Given the description of an element on the screen output the (x, y) to click on. 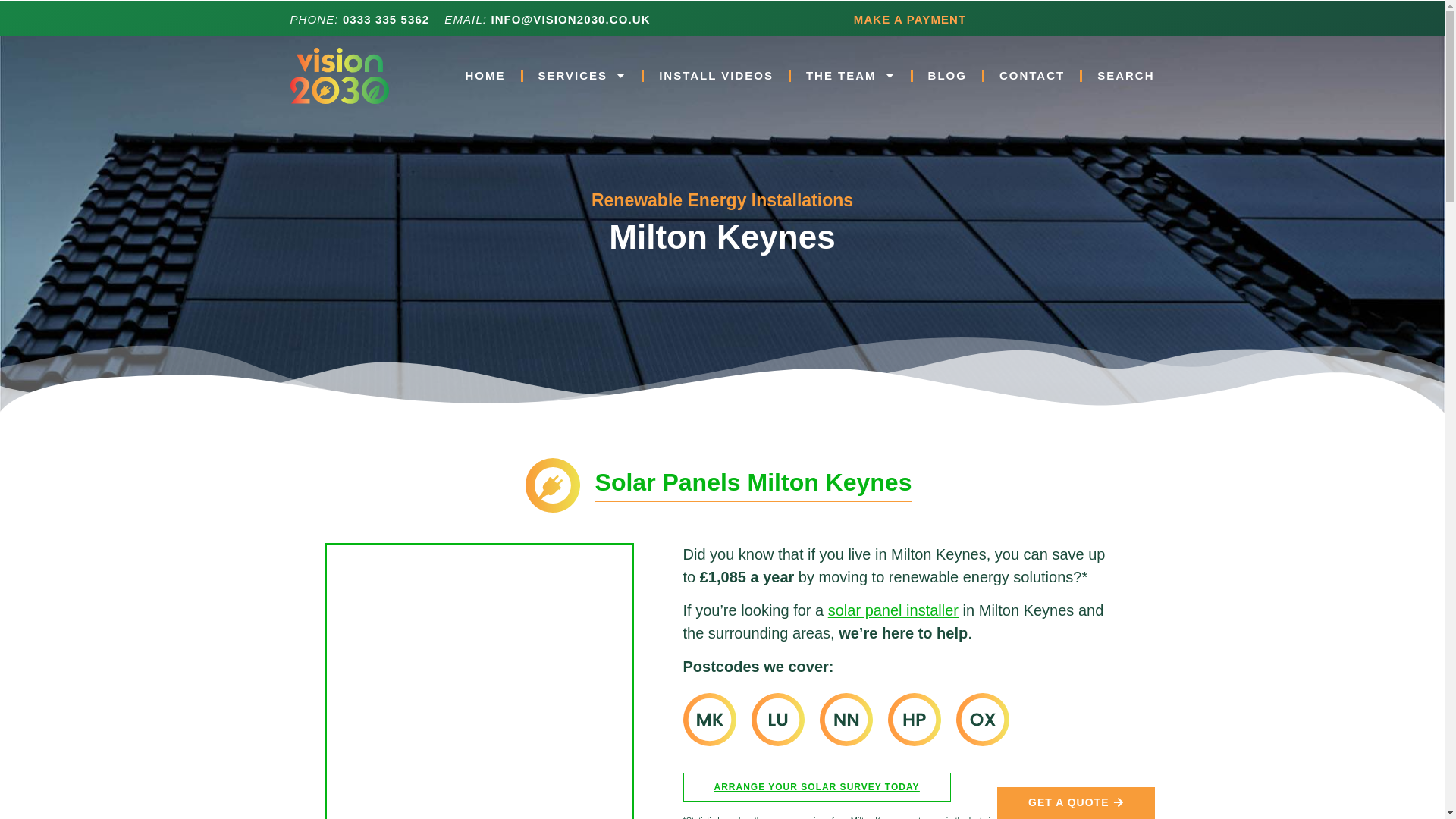
SEARCH (1125, 75)
GET A QUOTE (1075, 803)
PHONE: 0333 335 5362 (359, 19)
BLOG (946, 75)
THE TEAM (850, 75)
Milton Keynes (478, 682)
INSTALL VIDEOS (716, 75)
CONTACT (1032, 75)
MAKE A PAYMENT (909, 19)
SERVICES (582, 75)
ARRANGE YOUR SOLAR SURVEY TODAY (816, 787)
solar panel installer (893, 610)
HOME (485, 75)
